Given the description of an element on the screen output the (x, y) to click on. 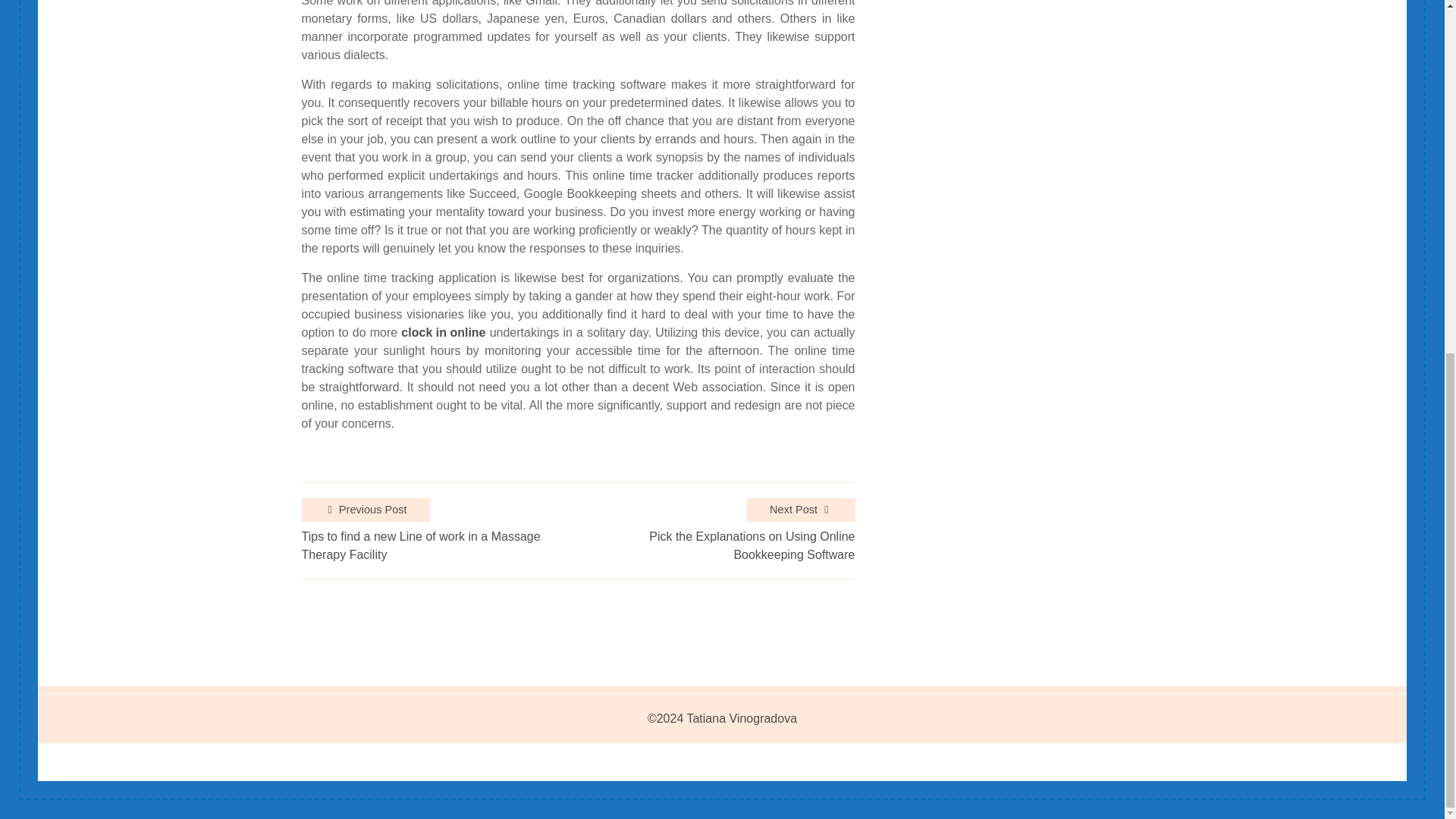
Next Post (800, 509)
Previous Post (365, 509)
clock in online (442, 332)
Pick the Explanations on Using Online Bookkeeping Software (716, 545)
